Given the description of an element on the screen output the (x, y) to click on. 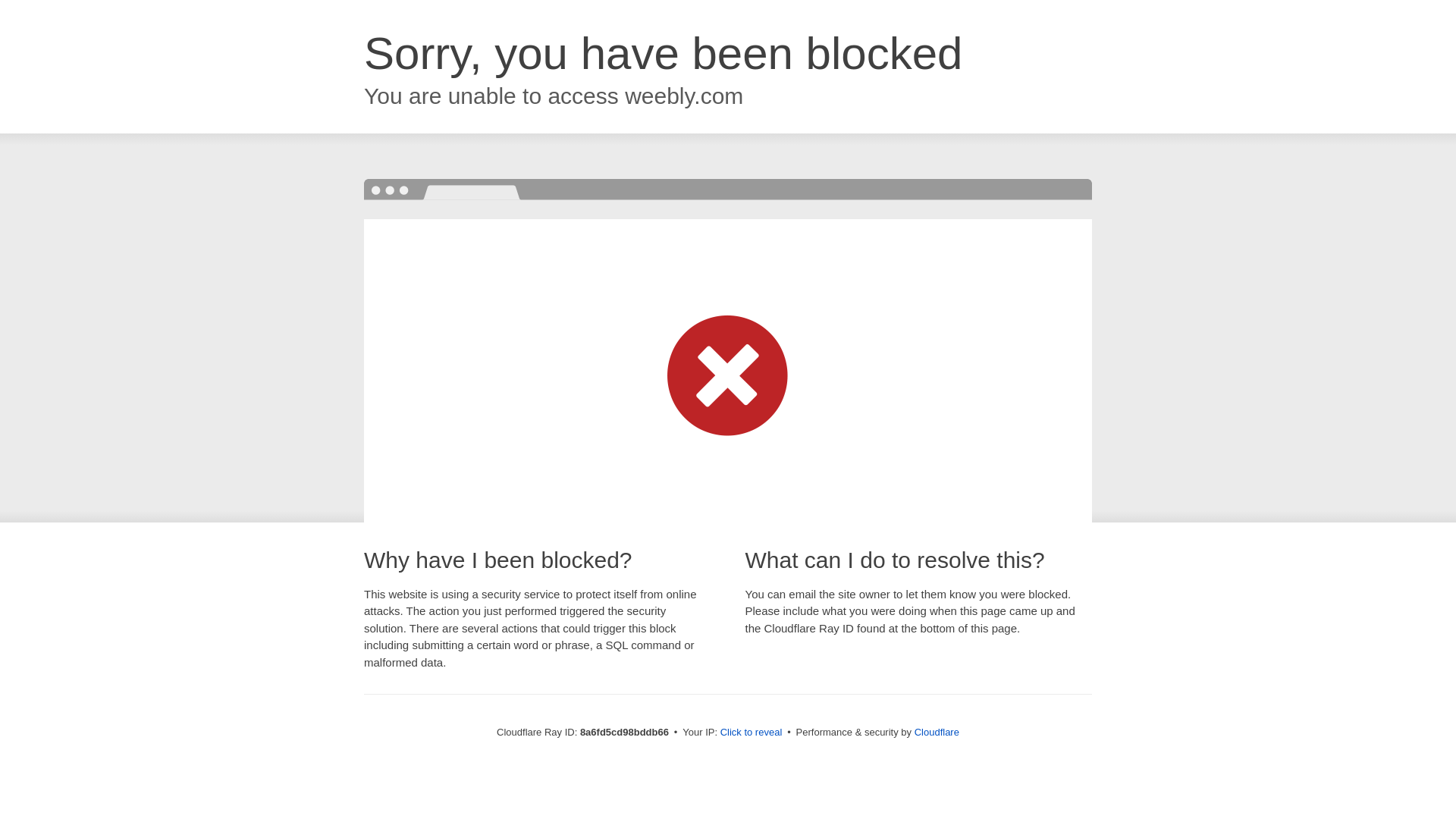
Cloudflare (936, 731)
Click to reveal (751, 732)
